Given the description of an element on the screen output the (x, y) to click on. 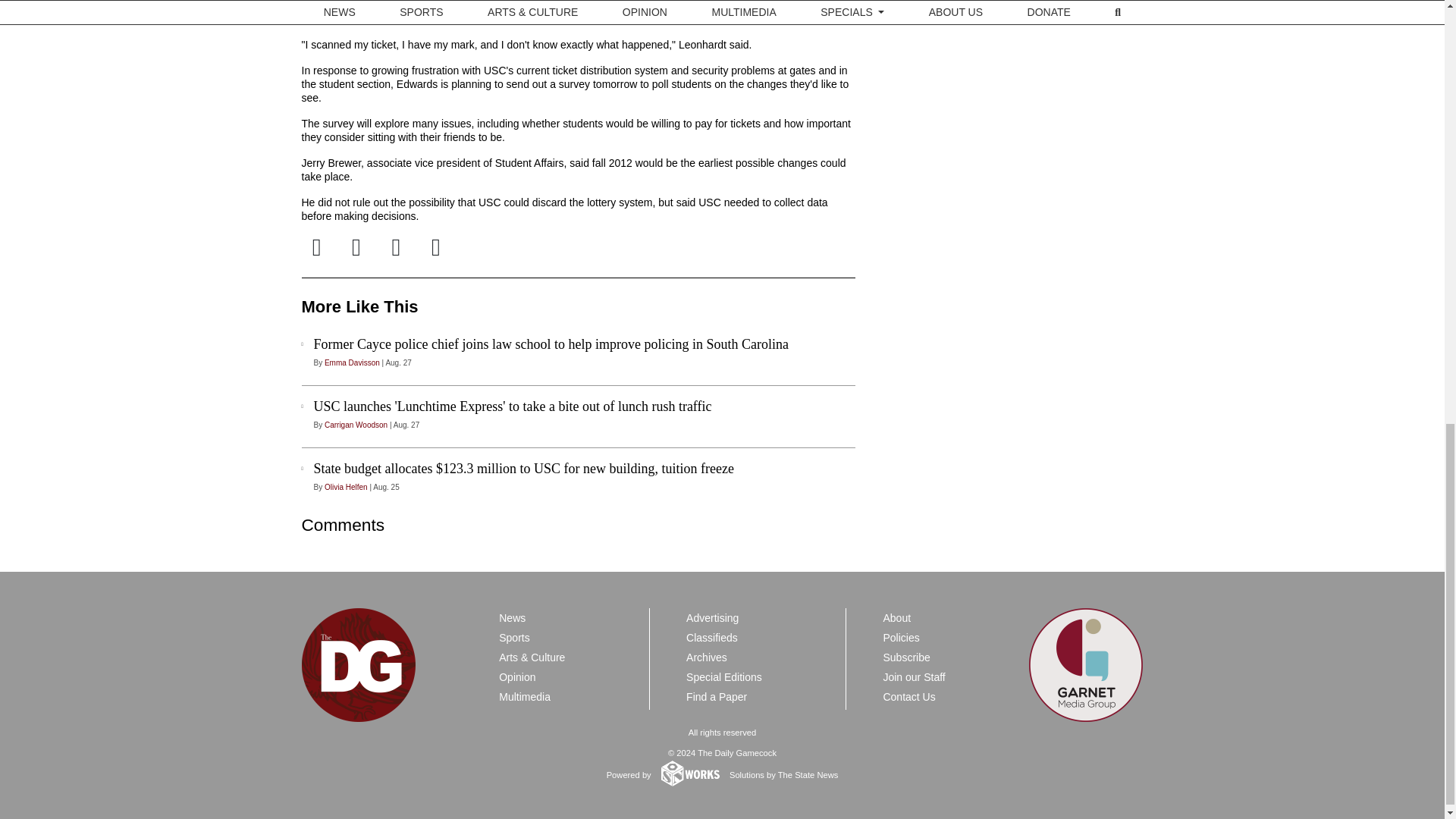
Carrigan Woodson (355, 424)
Emma Davisson (352, 362)
